Given the description of an element on the screen output the (x, y) to click on. 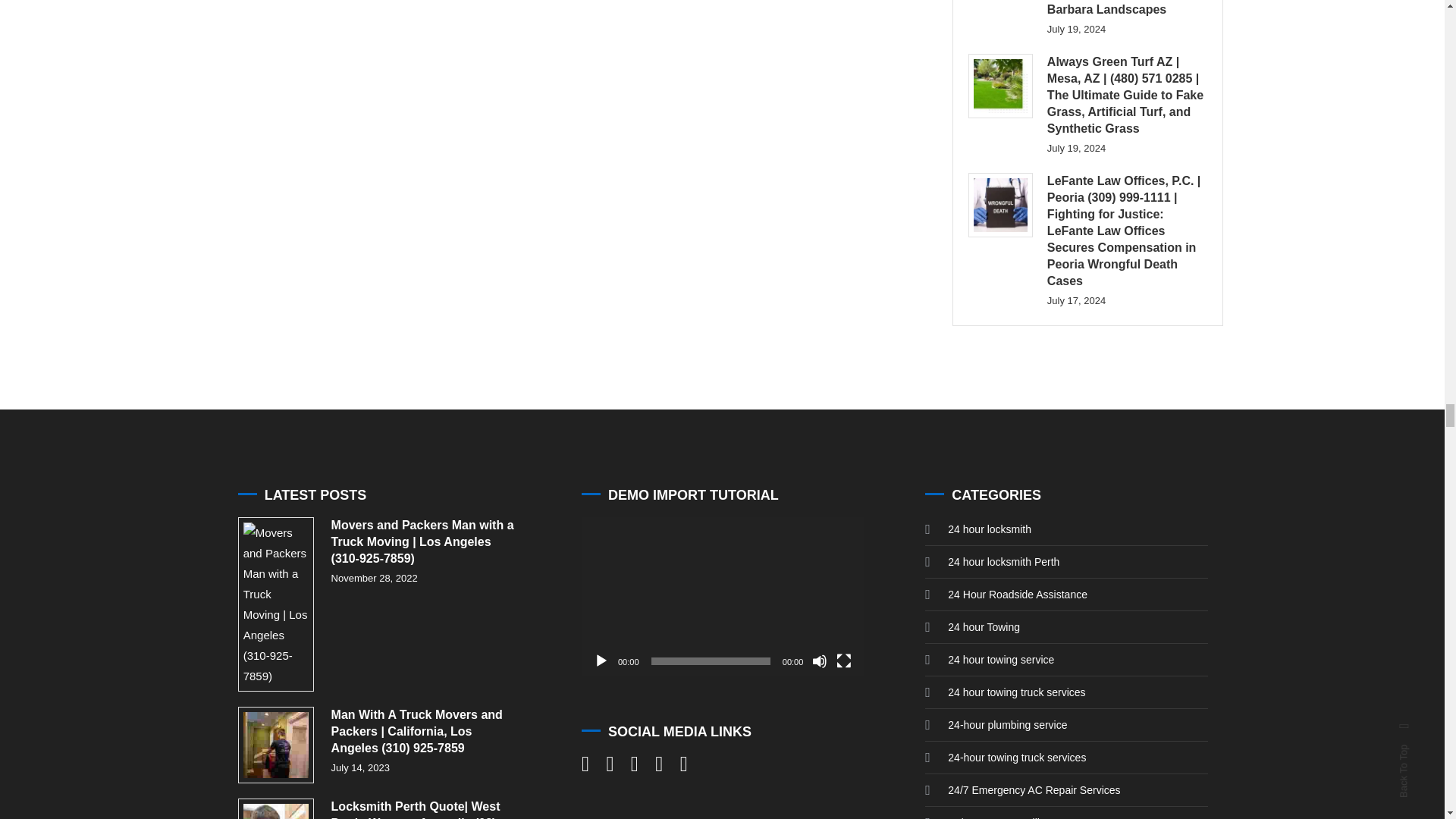
Play (601, 661)
Fullscreen (843, 661)
Mute (819, 661)
